Given the description of an element on the screen output the (x, y) to click on. 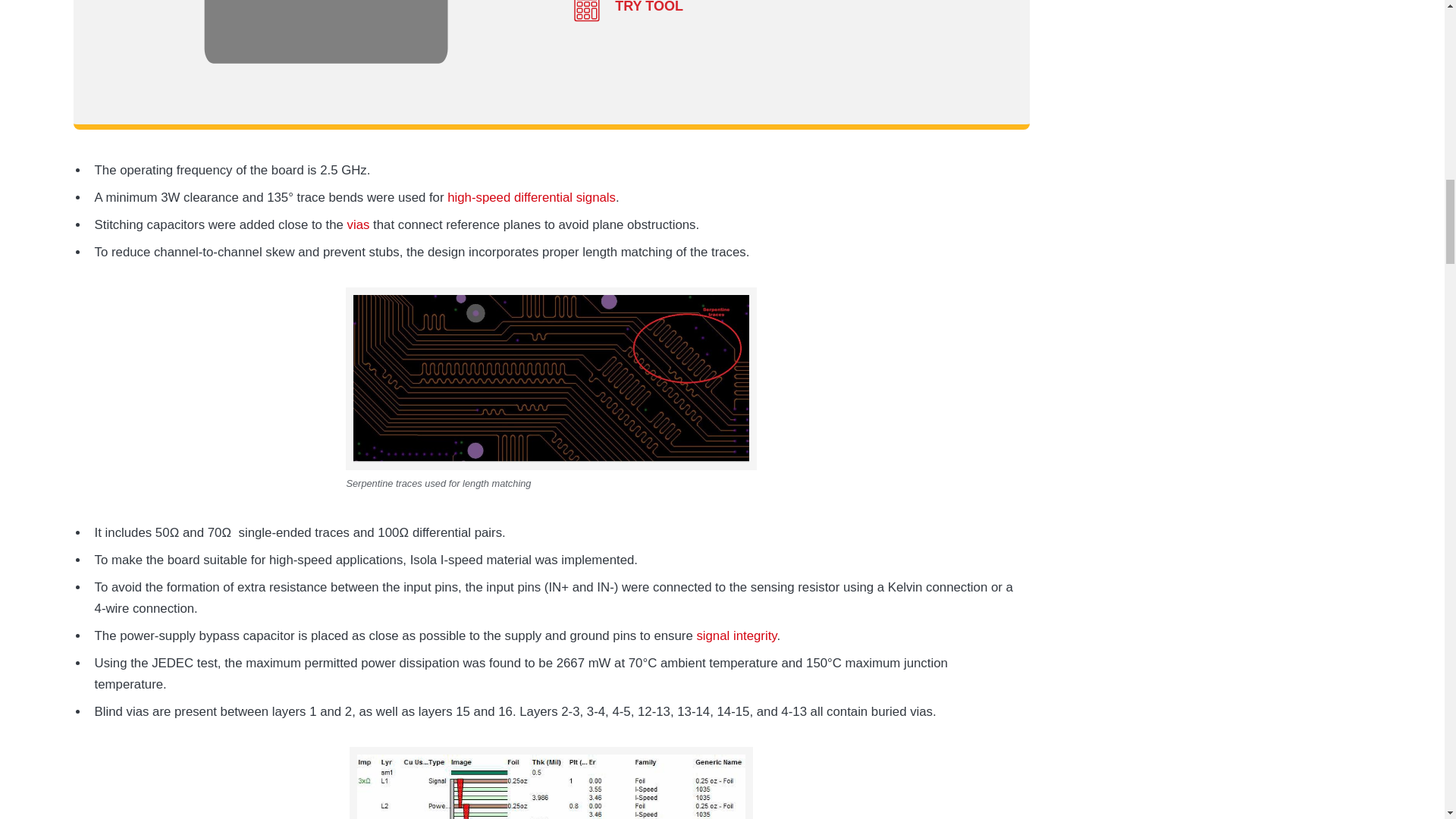
Stack-up of this 16-layer board (550, 782)
Serpentine traces used for length matching (551, 378)
